Given the description of an element on the screen output the (x, y) to click on. 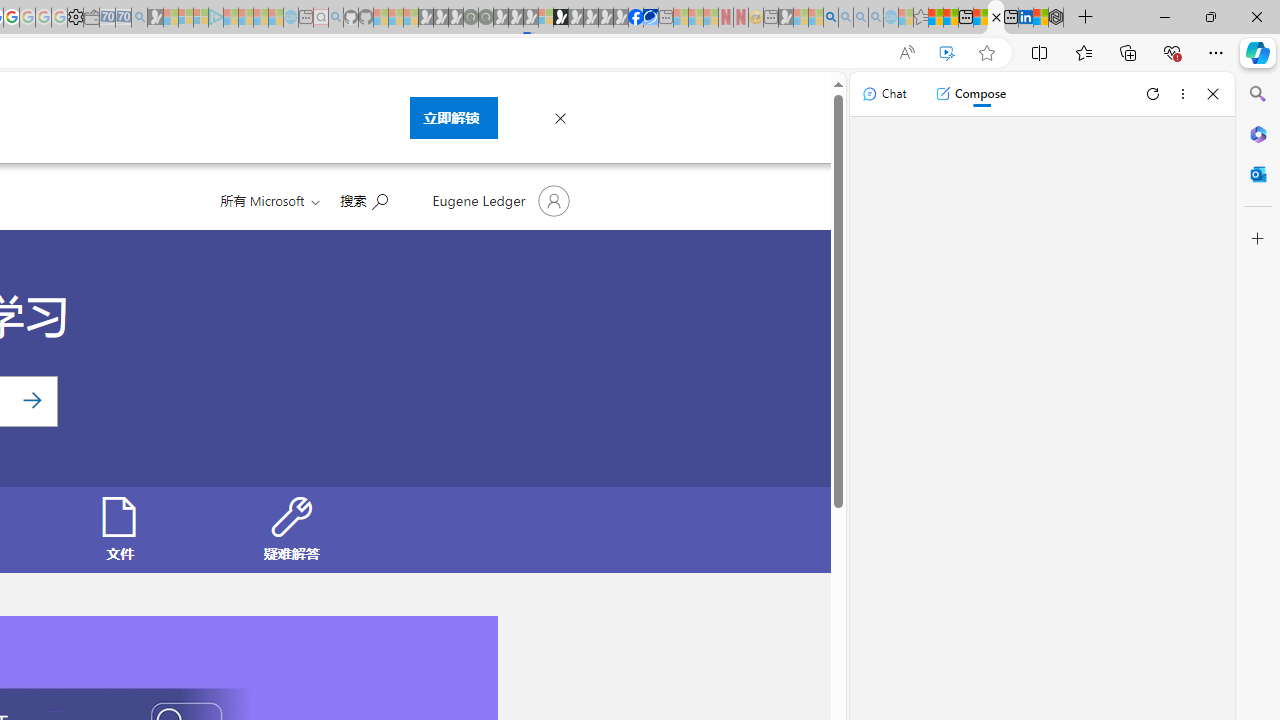
Refresh (1153, 93)
Nordace - Summer Adventures 2024 (1055, 17)
Chat (884, 93)
Aberdeen, Hong Kong SAR weather forecast | Microsoft Weather (950, 17)
Minimize (1164, 16)
Sign in to your account - Sleeping (545, 17)
